Given the description of an element on the screen output the (x, y) to click on. 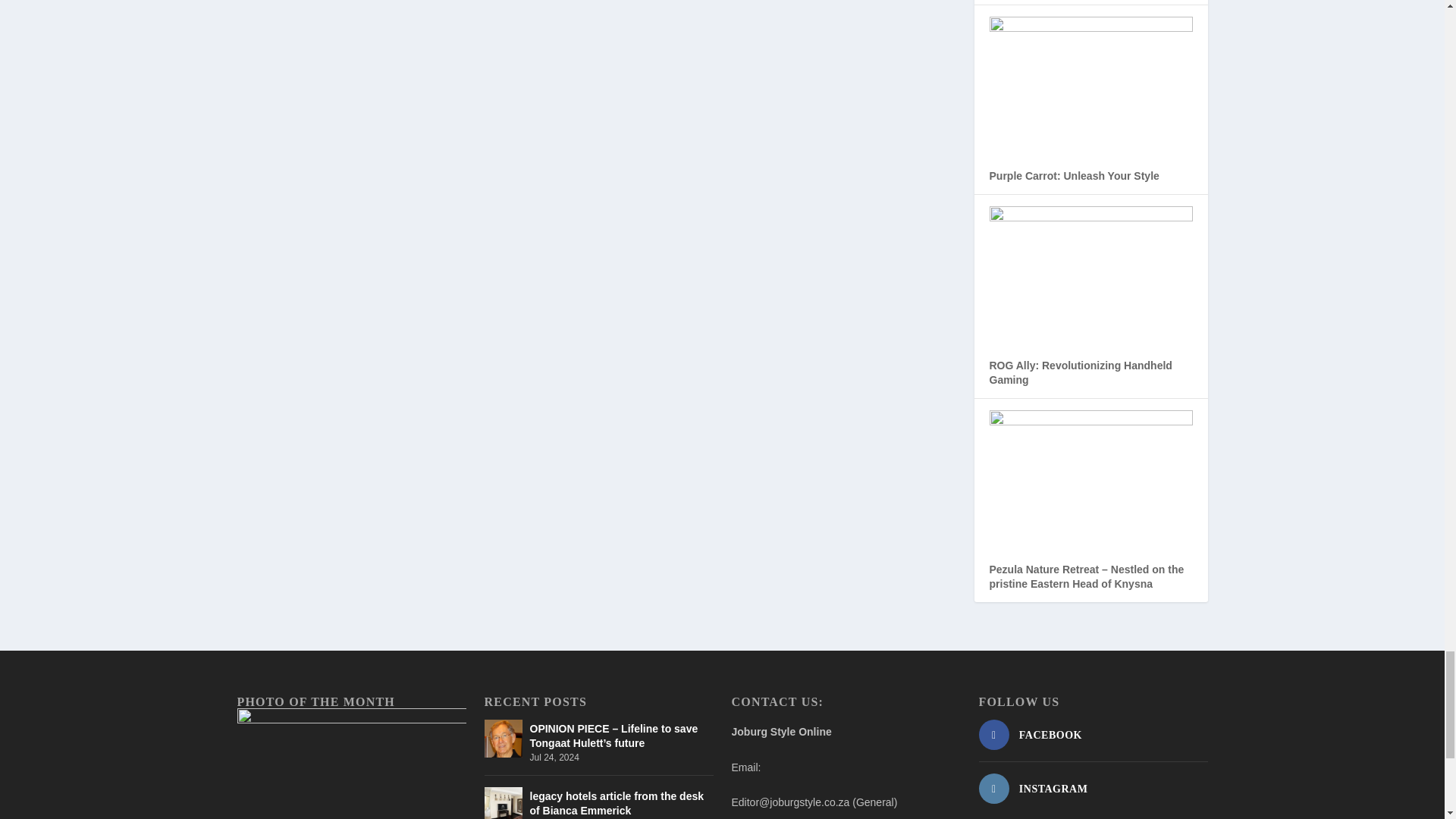
Photo of the Week (350, 763)
